Given the description of an element on the screen output the (x, y) to click on. 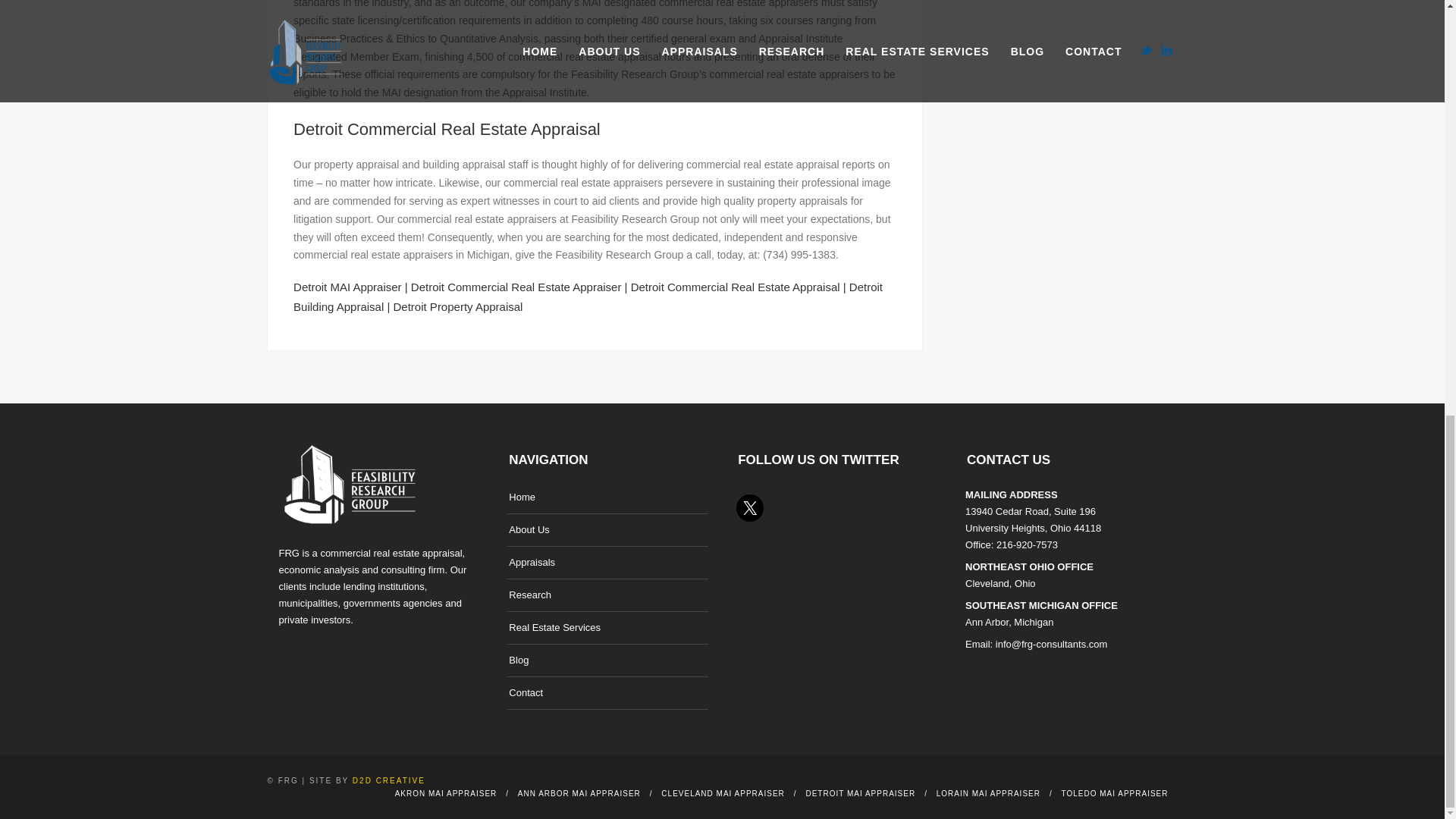
TOLEDO MAI APPRAISER (1115, 793)
AKRON MAI APPRAISER (445, 793)
Appraisals (531, 561)
Contact (525, 692)
X (749, 507)
DETROIT MAI APPRAISER (860, 793)
Research (529, 594)
LORAIN MAI APPRAISER (988, 793)
D2D CREATIVE (388, 780)
Blog (518, 659)
CLEVELAND MAI APPRAISER (722, 793)
Home (521, 496)
About Us (528, 529)
Real Estate Services (553, 627)
ANN ARBOR MAI APPRAISER (579, 793)
